Given the description of an element on the screen output the (x, y) to click on. 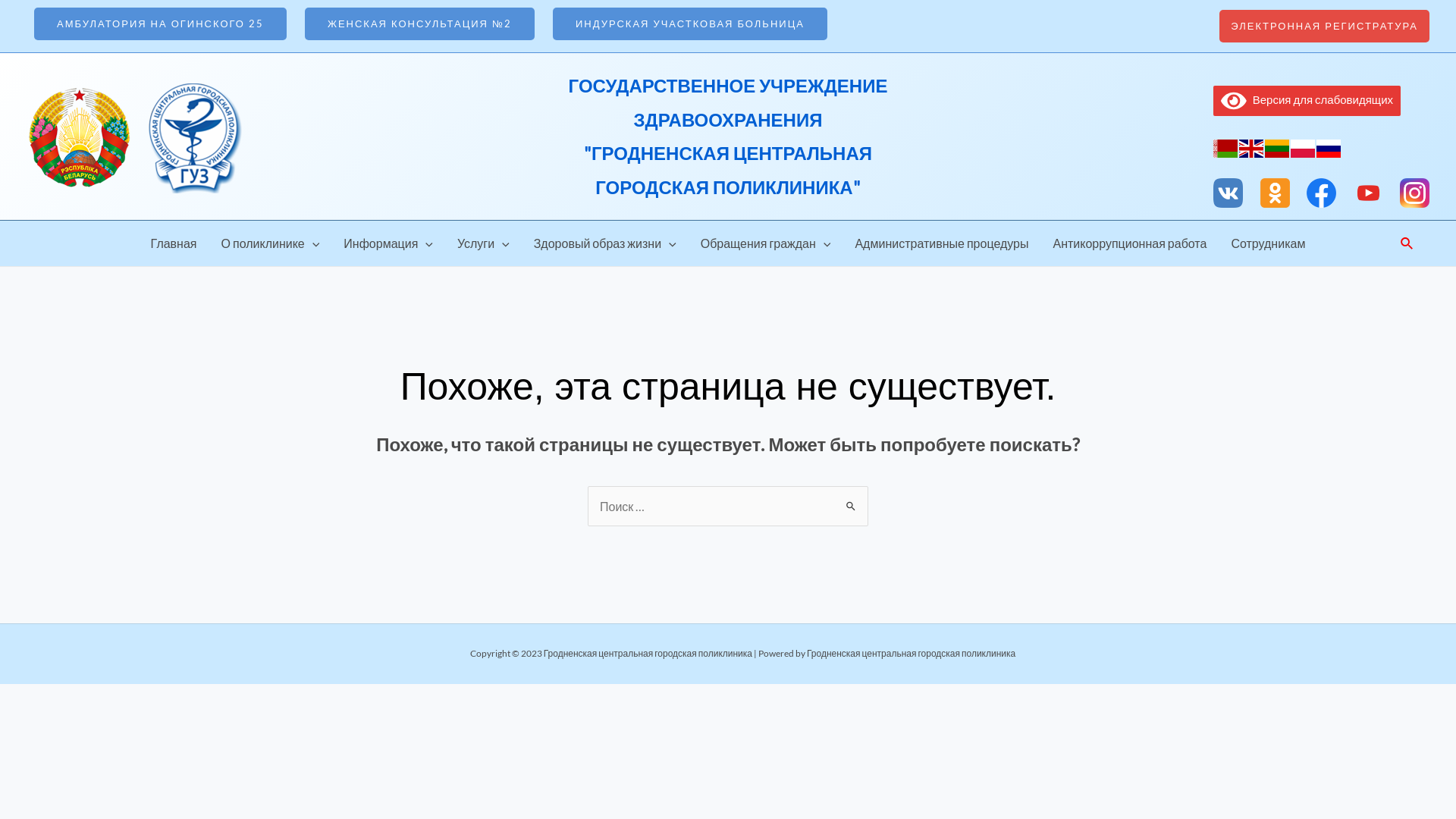
Polish Element type: hover (1303, 146)
Lithuanian Element type: hover (1277, 146)
English Element type: hover (1251, 146)
Belarusian Element type: hover (1226, 146)
Russian Element type: hover (1329, 146)
